Given the description of an element on the screen output the (x, y) to click on. 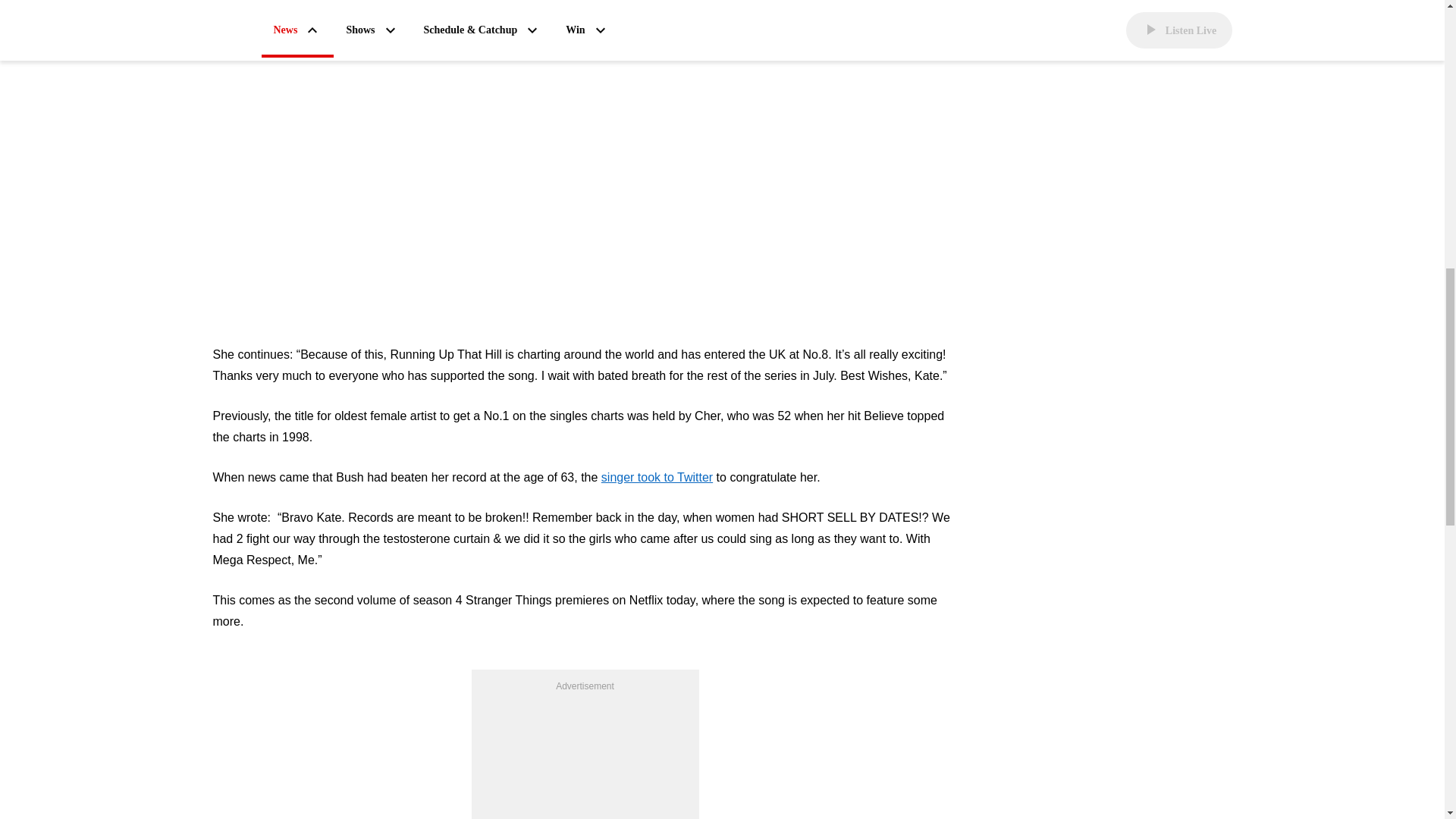
singer took to Twitter (657, 477)
